Given the description of an element on the screen output the (x, y) to click on. 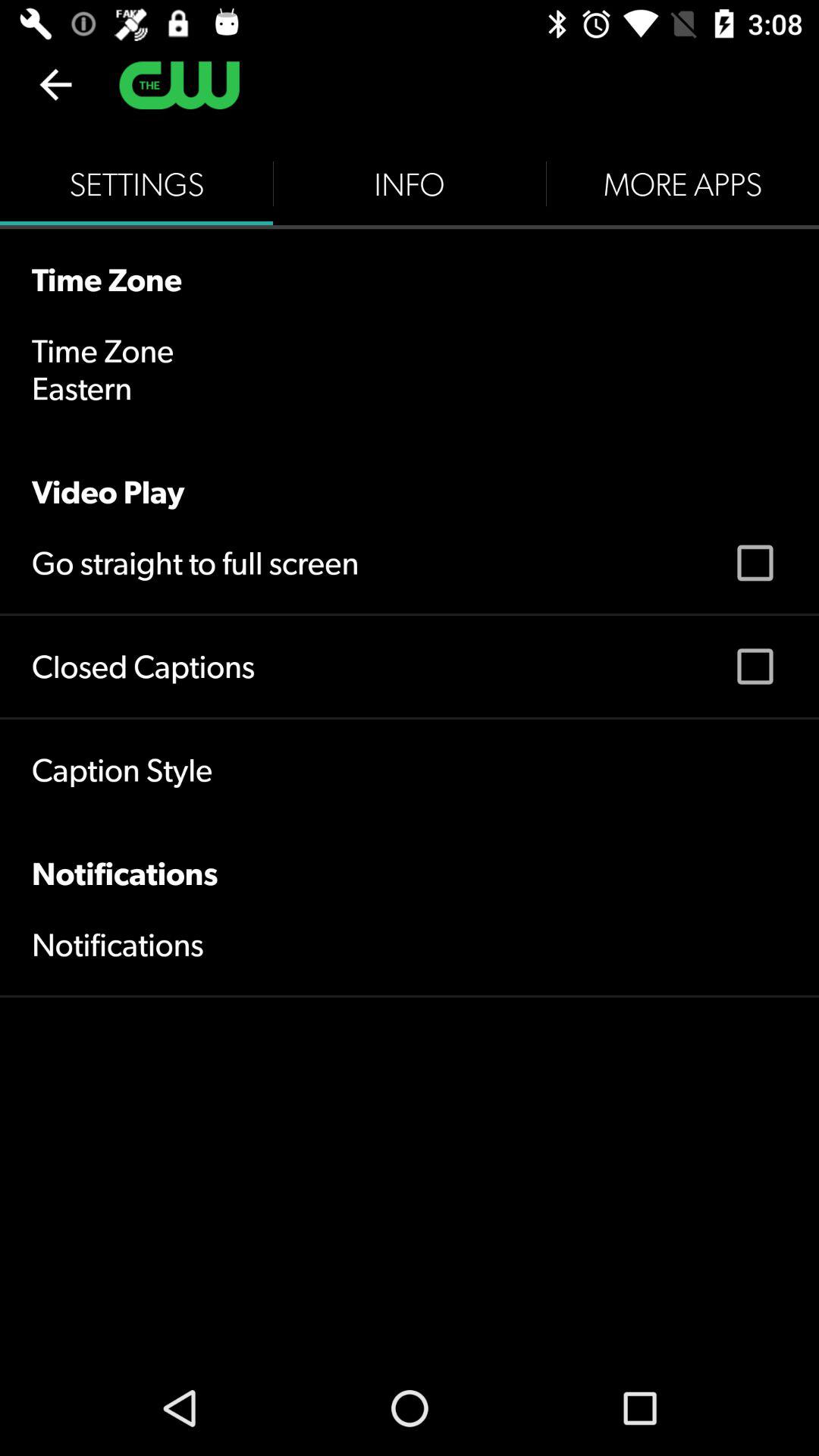
swipe until the video play item (409, 475)
